Given the description of an element on the screen output the (x, y) to click on. 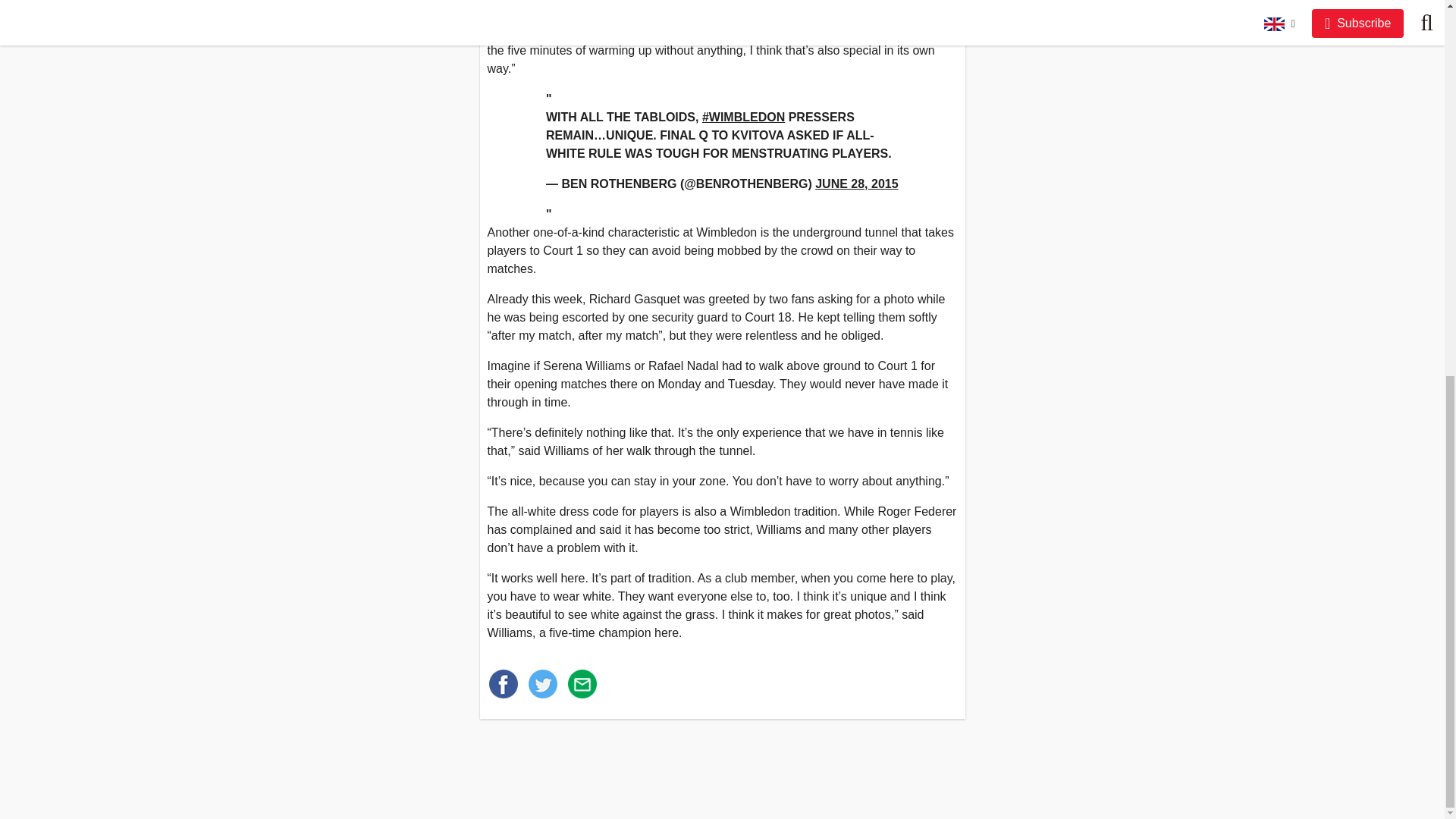
Facebook (501, 683)
Twitter (541, 683)
Mail (581, 683)
JUNE 28, 2015 (856, 183)
